Given the description of an element on the screen output the (x, y) to click on. 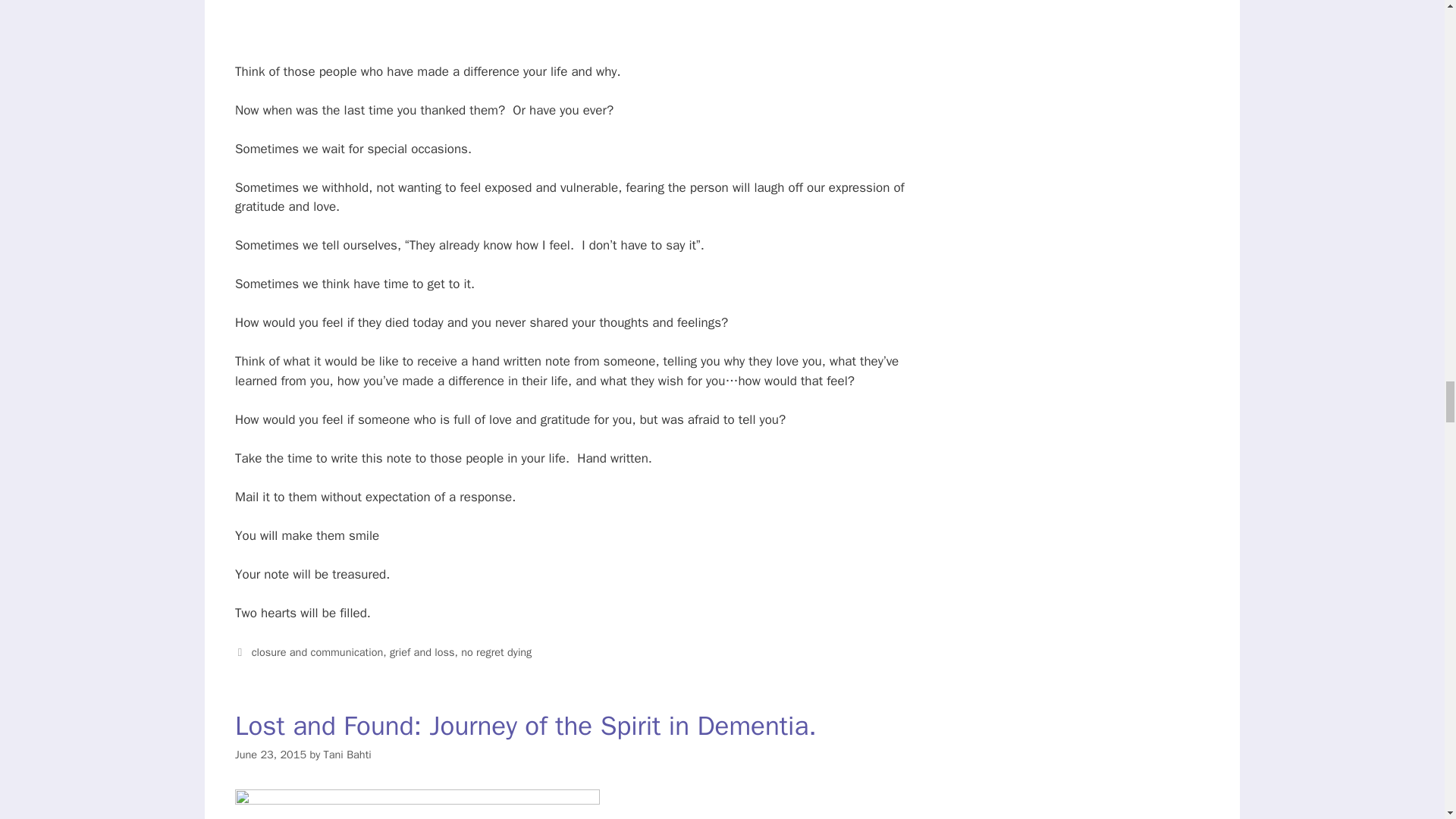
View all posts by Tani Bahti (347, 754)
